Given the description of an element on the screen output the (x, y) to click on. 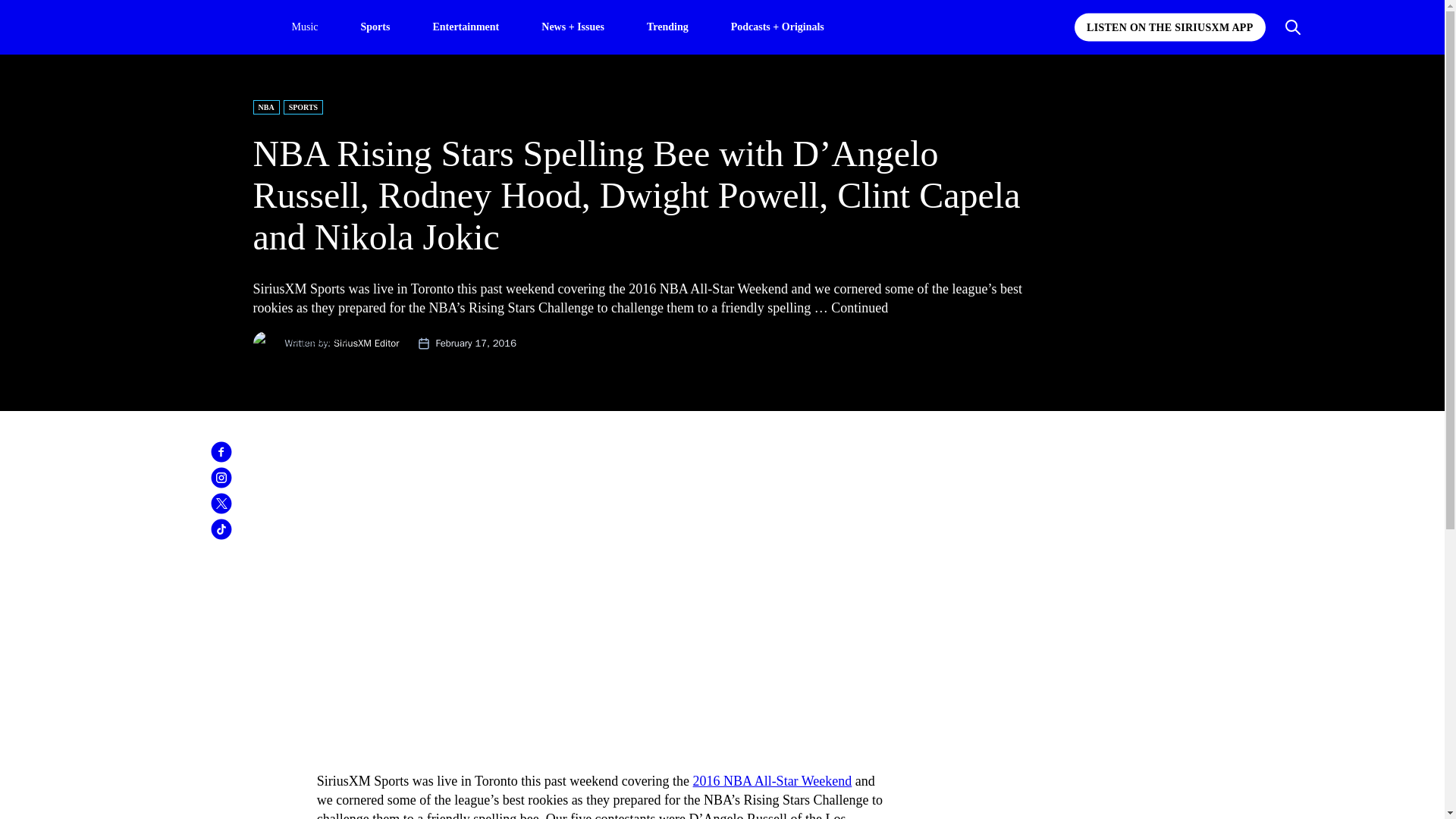
Trending (667, 26)
Sports (375, 26)
Music (304, 26)
SiriusXM Editor (365, 342)
SPORTS (303, 106)
Continued (859, 307)
LISTEN ON THE SIRIUSXM APP (1169, 27)
Entertainment (465, 26)
NBA (266, 106)
2016 NBA All-Star Weekend (772, 780)
